Given the description of an element on the screen output the (x, y) to click on. 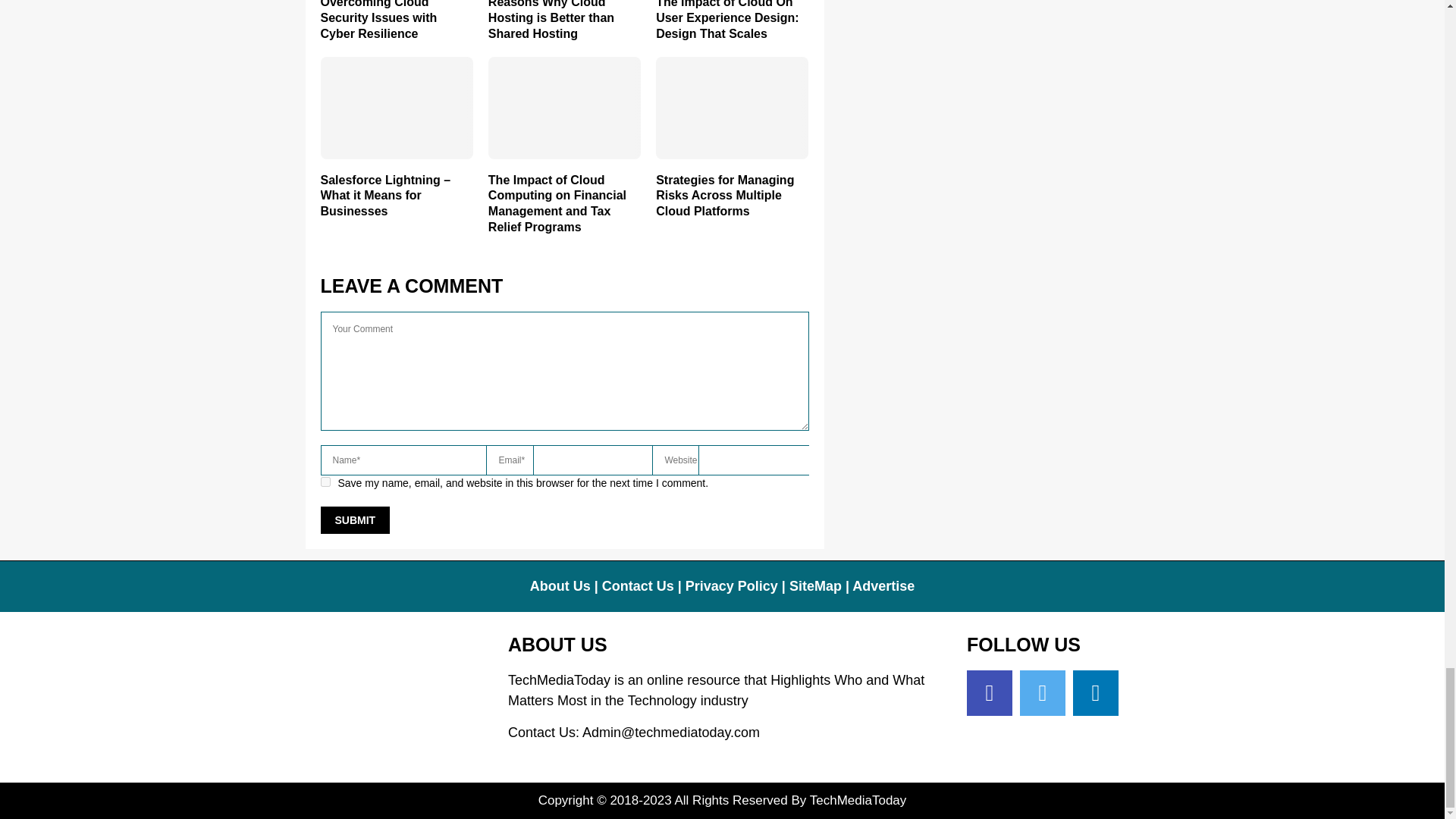
Twitter (1042, 692)
Submit (355, 519)
yes (325, 481)
Facebook (988, 692)
